Given the description of an element on the screen output the (x, y) to click on. 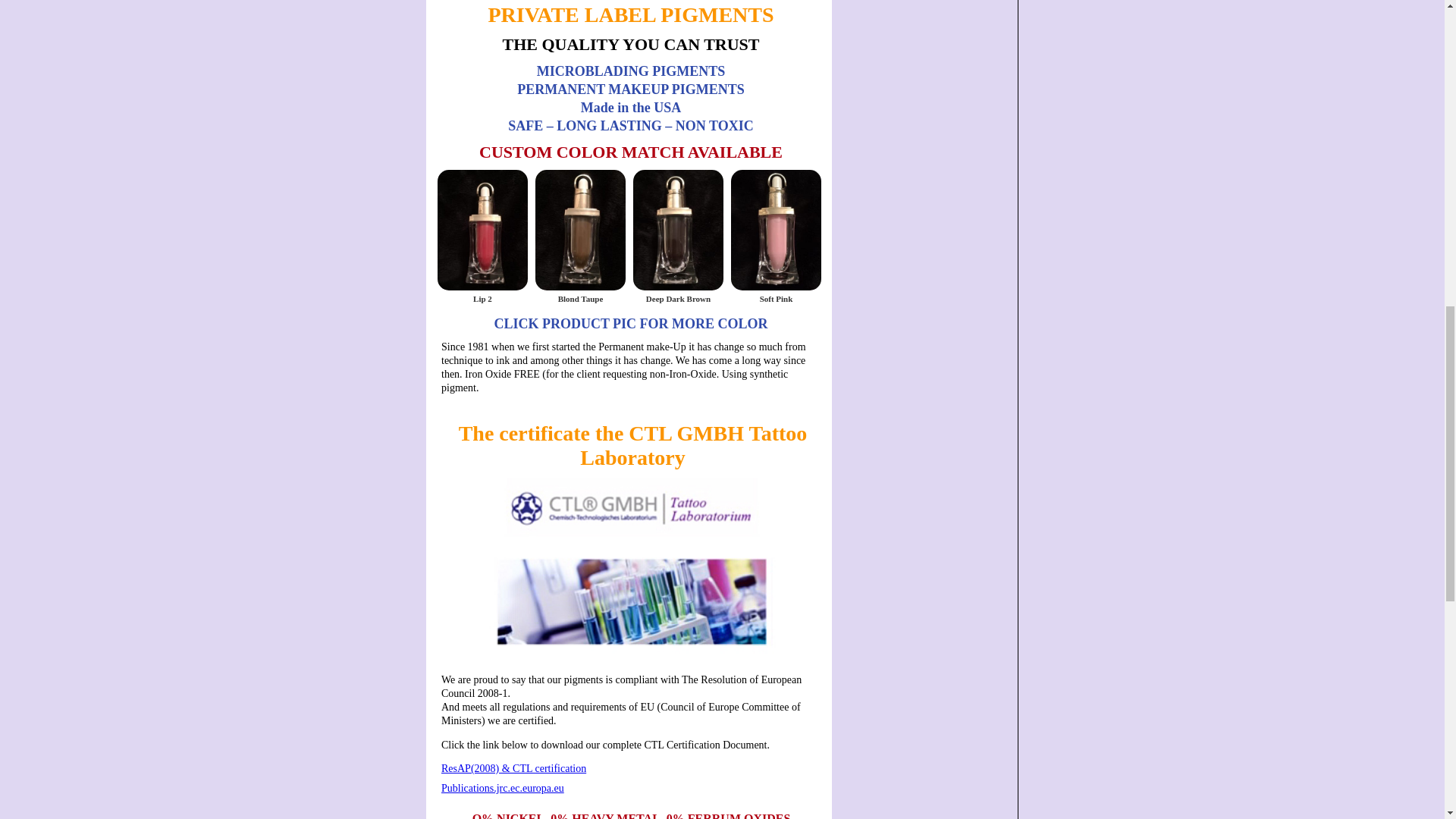
Soft Pink (775, 298)
Blond Taupe (580, 298)
Lip 2 (482, 298)
Deep Dark Brown (678, 298)
Publications.jrc.ec.europa.eu (632, 788)
